Given the description of an element on the screen output the (x, y) to click on. 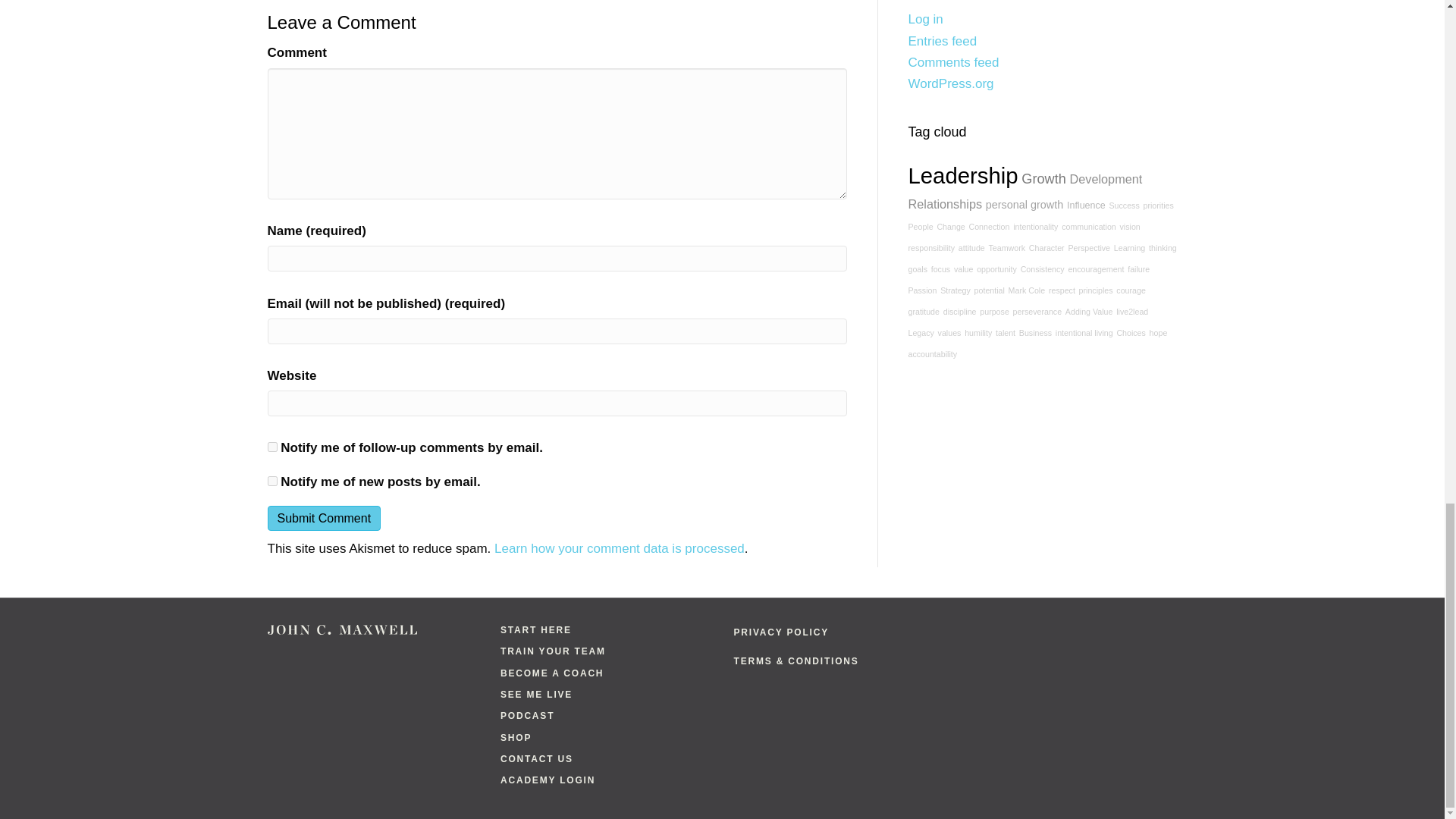
Learn how your comment data is processed (619, 548)
34 topics (949, 225)
38 topics (1157, 204)
108 topics (1023, 204)
Submit Comment (323, 518)
subscribe (271, 480)
381 topics (962, 175)
31 topics (988, 225)
74 topics (1086, 204)
29 topics (1088, 225)
